Given the description of an element on the screen output the (x, y) to click on. 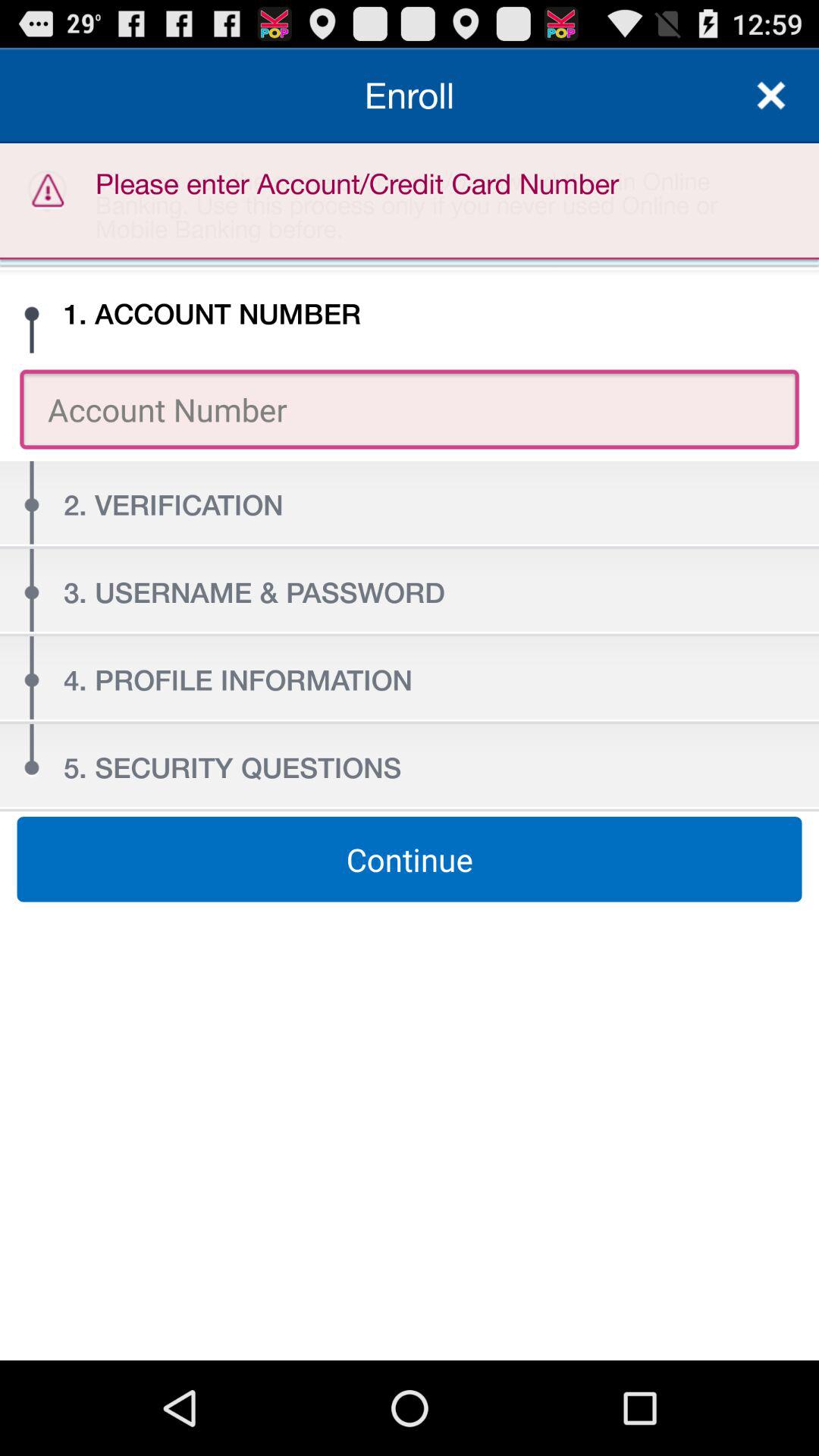
press the icon at the top right corner (771, 95)
